Given the description of an element on the screen output the (x, y) to click on. 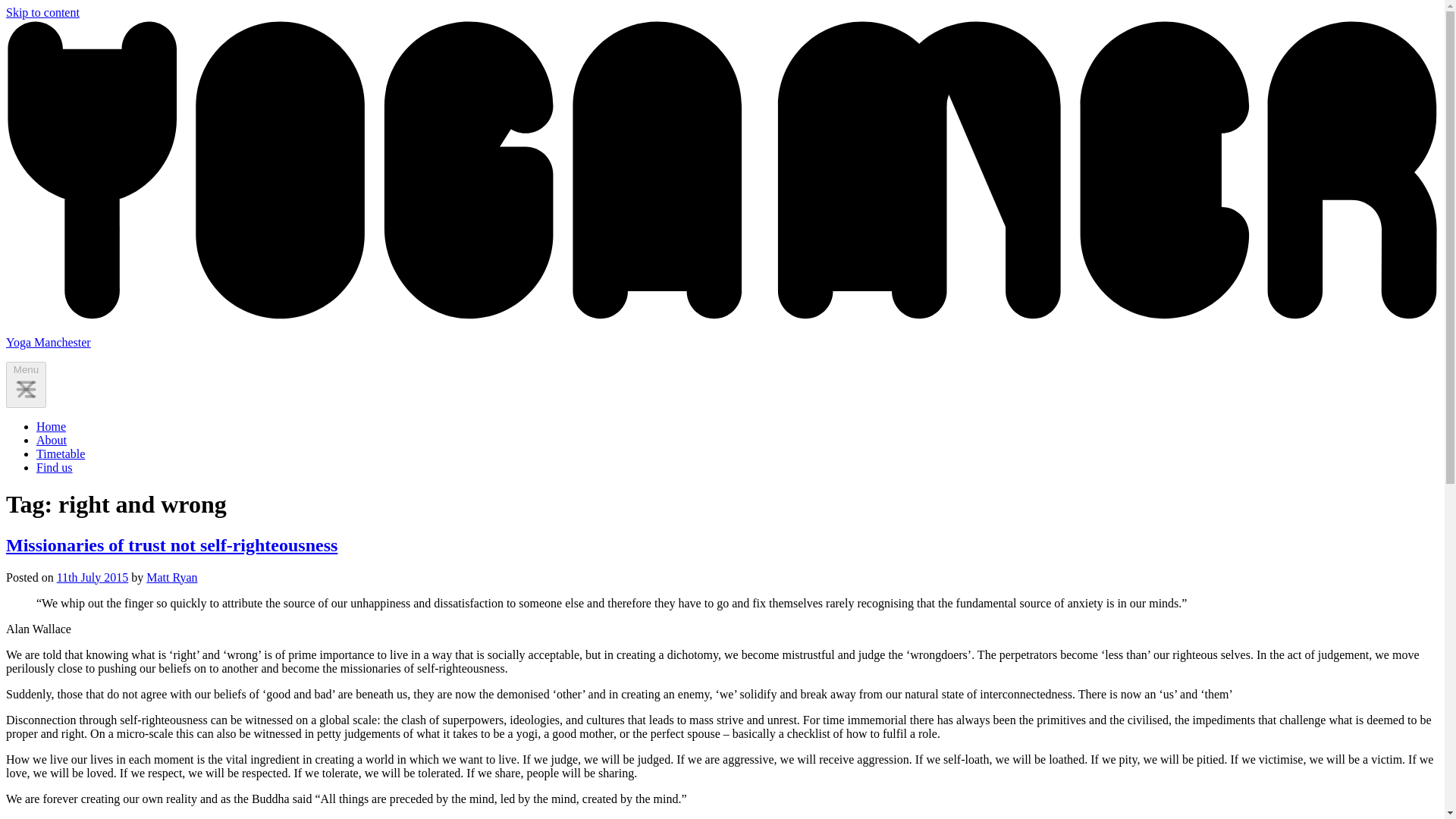
Skip to content (42, 11)
Timetable (60, 453)
11th July 2015 (92, 576)
Home (50, 426)
About (51, 440)
Menu (25, 384)
Missionaries of trust not self-righteousness (171, 545)
Matt Ryan (171, 576)
Find us (54, 467)
